Given the description of an element on the screen output the (x, y) to click on. 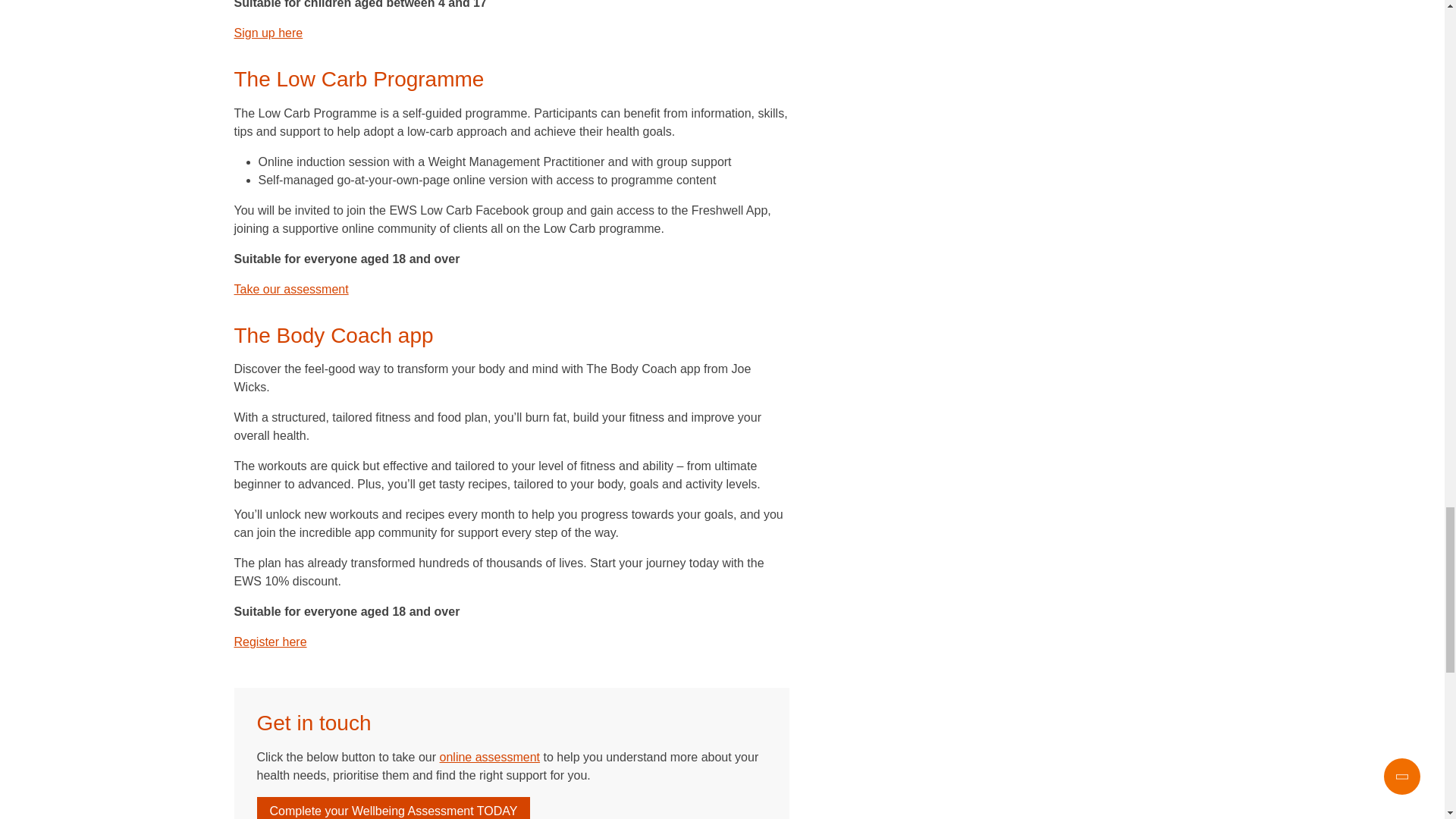
Sign up here (267, 32)
Take our assessment (289, 288)
Complete your Wellbeing Assessment TODAY (392, 807)
Register here (268, 641)
online assessment (489, 757)
